Given the description of an element on the screen output the (x, y) to click on. 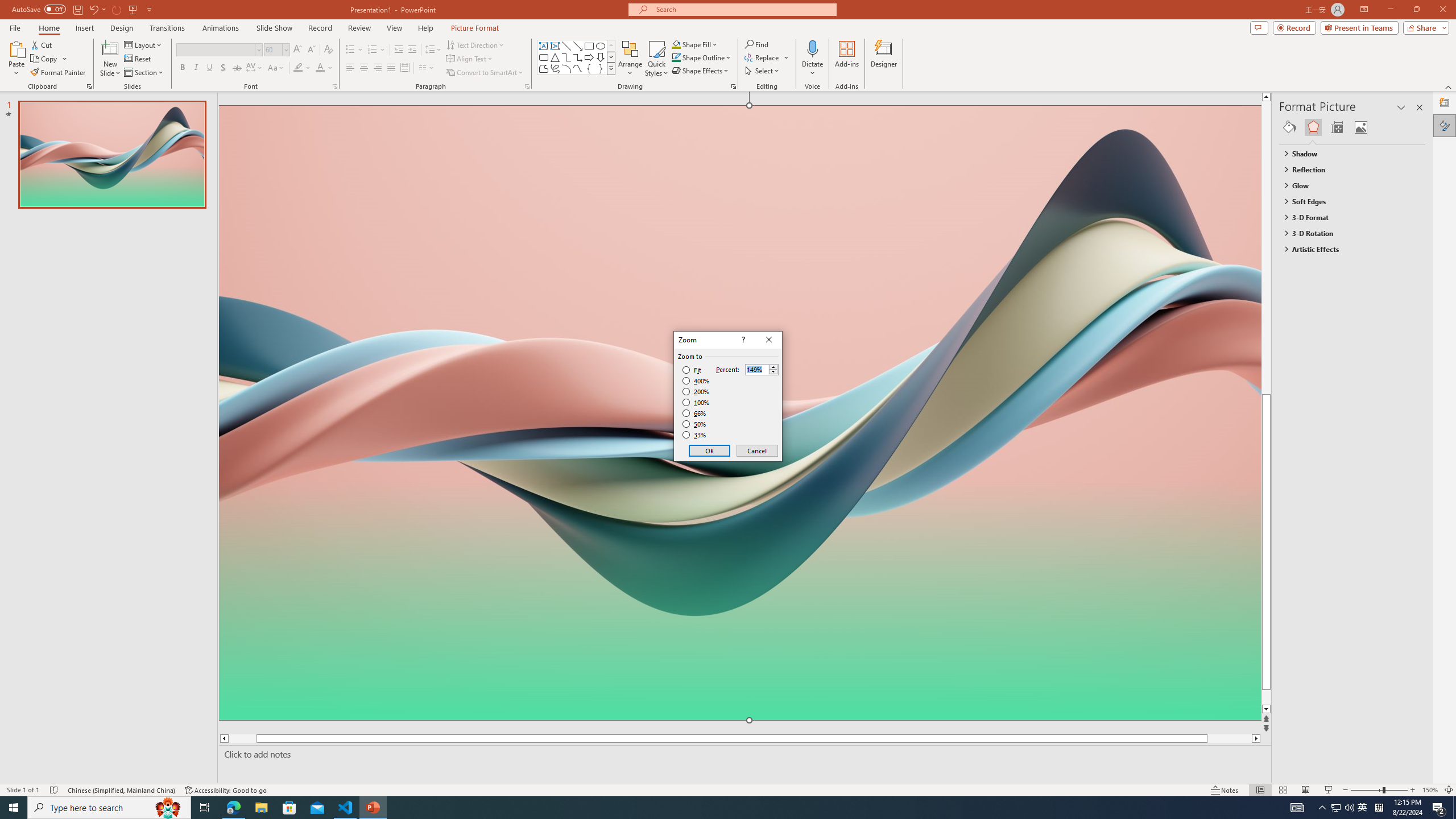
Picture (1361, 126)
Reflection (1347, 169)
Fit (691, 370)
